Given the description of an element on the screen output the (x, y) to click on. 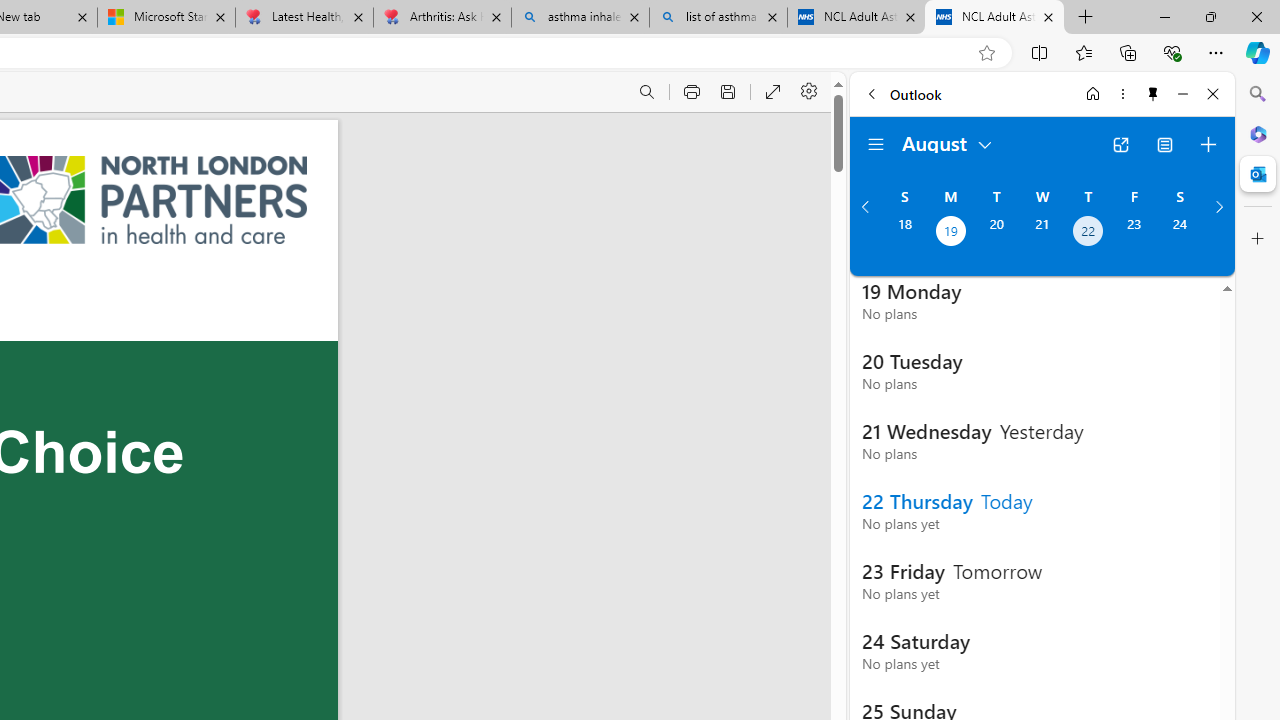
Friday, August 23, 2024.  (1134, 233)
list of asthma inhalers uk - Search (718, 17)
Sunday, August 18, 2024.  (904, 233)
Create event (1208, 144)
Settings and more (809, 92)
View Switcher. Current view is Agenda view (1165, 144)
Home (1093, 93)
Unpin side pane (1153, 93)
Saturday, August 24, 2024.  (1180, 233)
asthma inhaler - Search (580, 17)
Open in new tab (1120, 144)
